Given the description of an element on the screen output the (x, y) to click on. 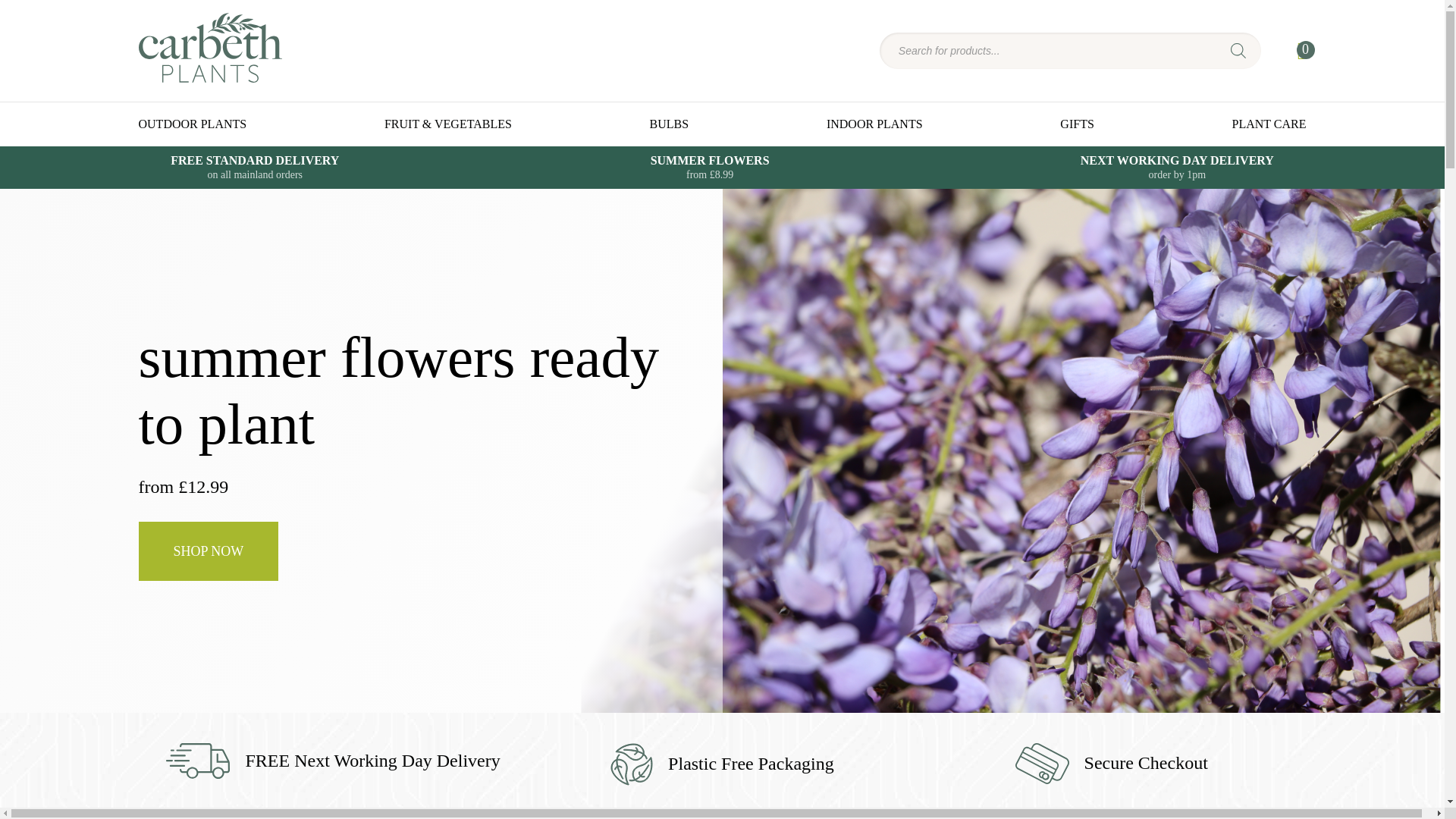
Carbeth Plants (209, 73)
NEXT WORKING DAY DELIVERY (1177, 166)
OUTDOOR PLANTS (192, 124)
SUMMER FLOWERS (710, 166)
Carbeth Plants (209, 73)
FREE STANDARD DELIVERY (254, 166)
